Given the description of an element on the screen output the (x, y) to click on. 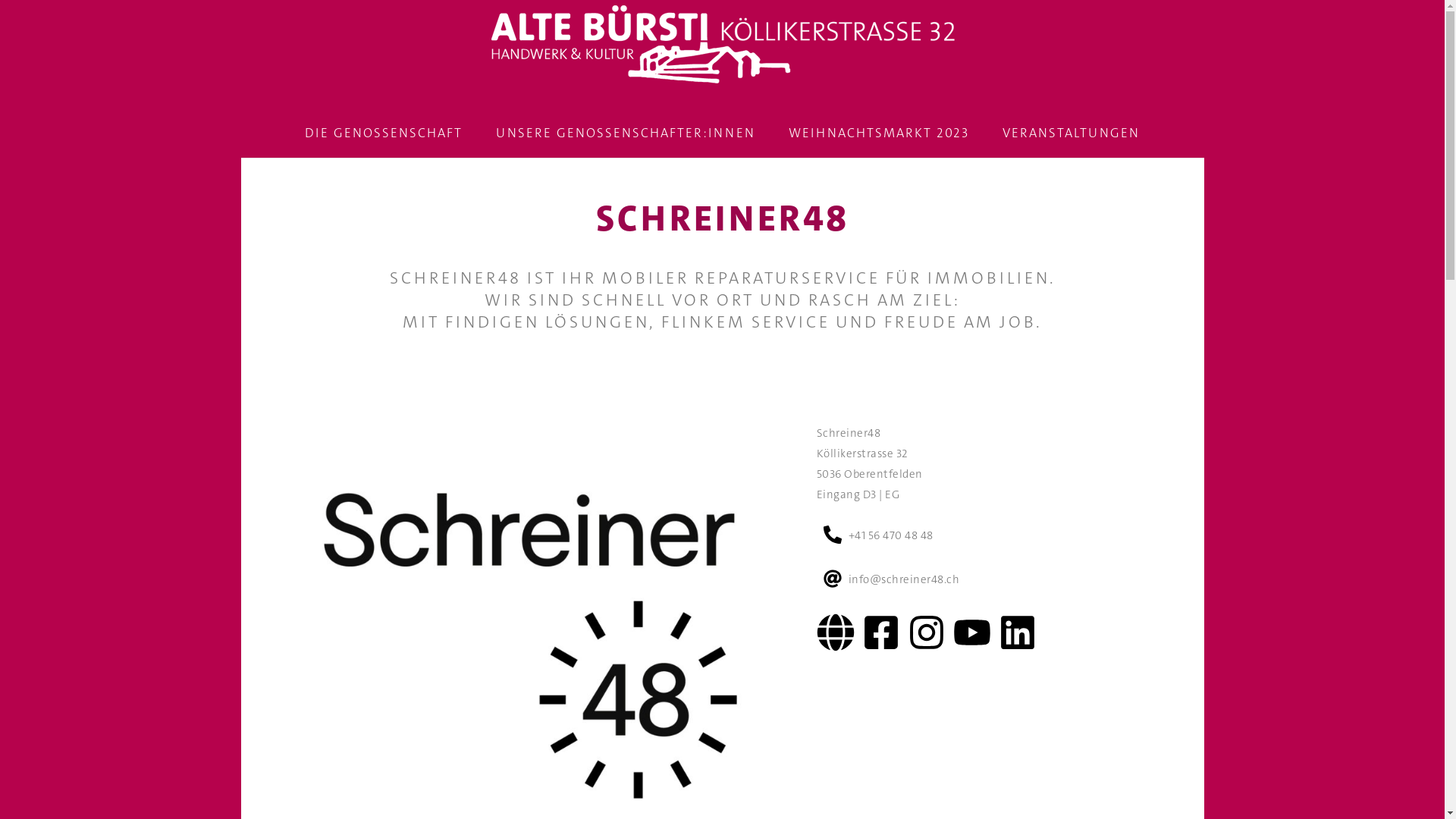
Zur Hauptnavigation springen Element type: text (0, 0)
VERANSTALTUNGEN Element type: text (1070, 132)
WEIHNACHTSMARKT 2023 Element type: text (878, 132)
DIE GENOSSENSCHAFT Element type: text (383, 132)
UNSERE GENOSSENSCHAFTER:INNEN Element type: text (625, 132)
